Given the description of an element on the screen output the (x, y) to click on. 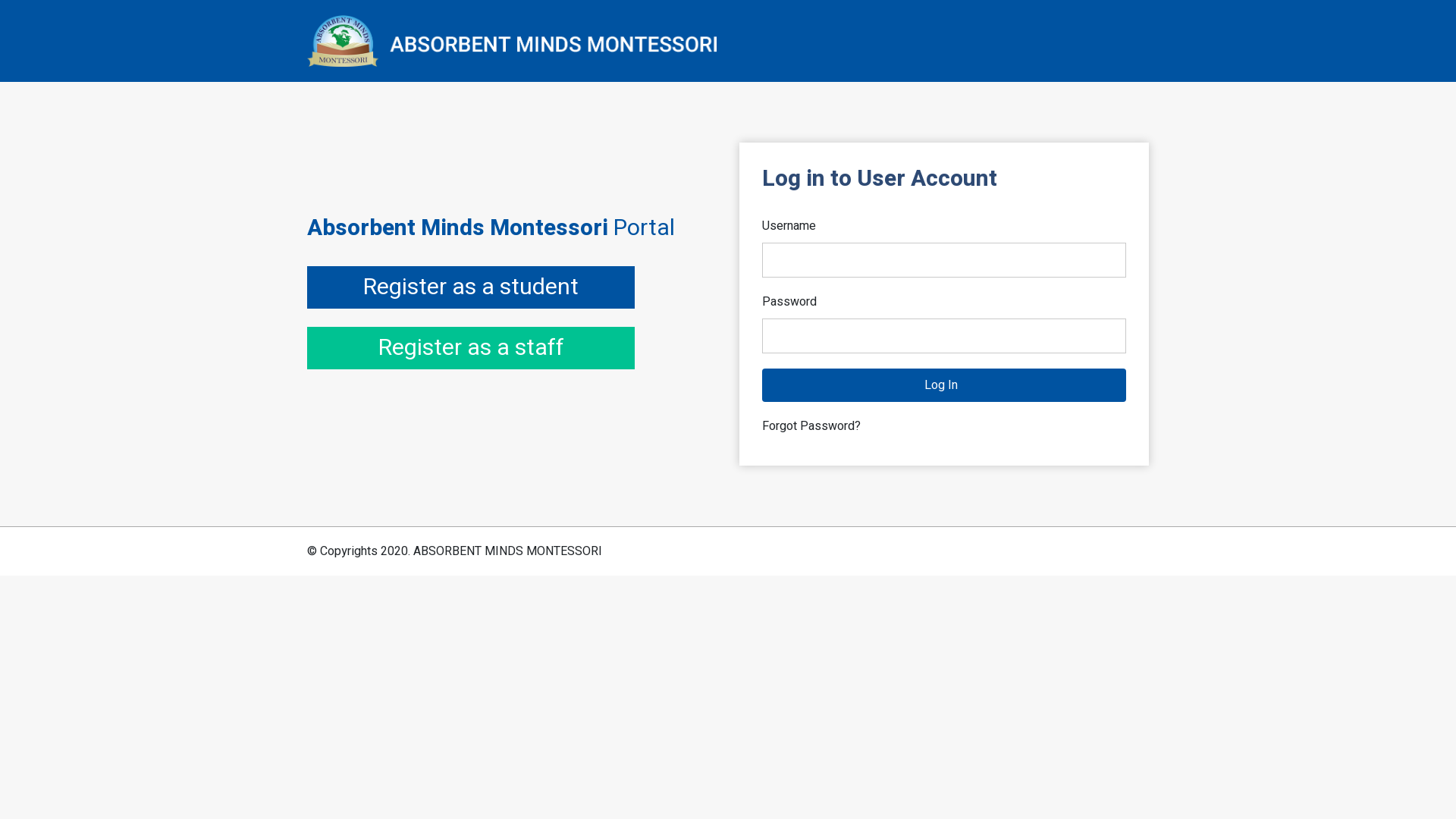
Log In   Element type: text (944, 384)
Register as a student Element type: text (470, 287)
Register as a staff Element type: text (470, 347)
